Given the description of an element on the screen output the (x, y) to click on. 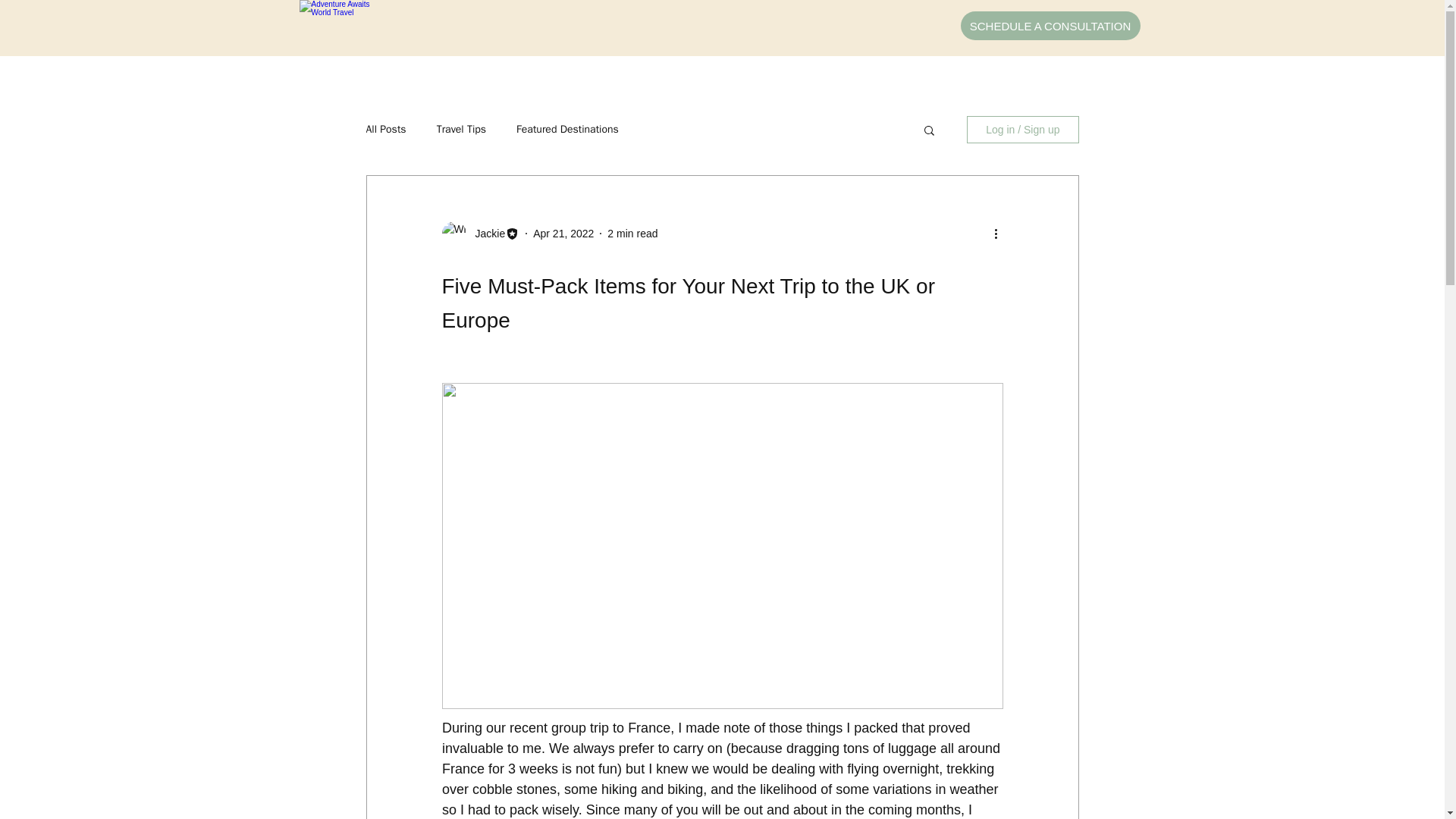
2 min read (632, 233)
All Posts (385, 129)
SCHEDULE A CONSULTATION (1049, 25)
Featured Destinations (567, 129)
Travel Tips (461, 129)
Jackie (485, 233)
Apr 21, 2022 (563, 233)
